Given the description of an element on the screen output the (x, y) to click on. 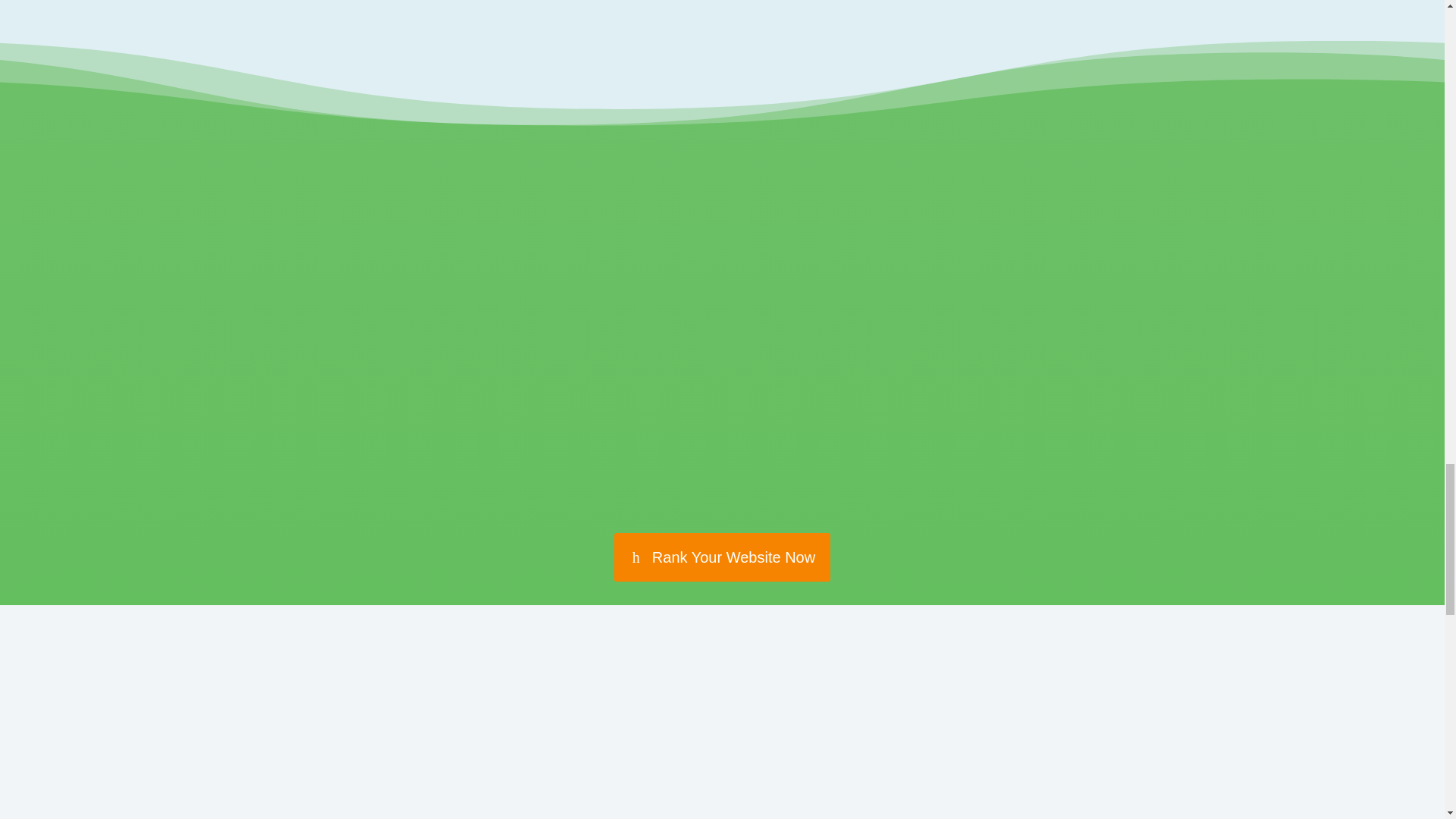
Rank Your Website Now (721, 557)
